Given the description of an element on the screen output the (x, y) to click on. 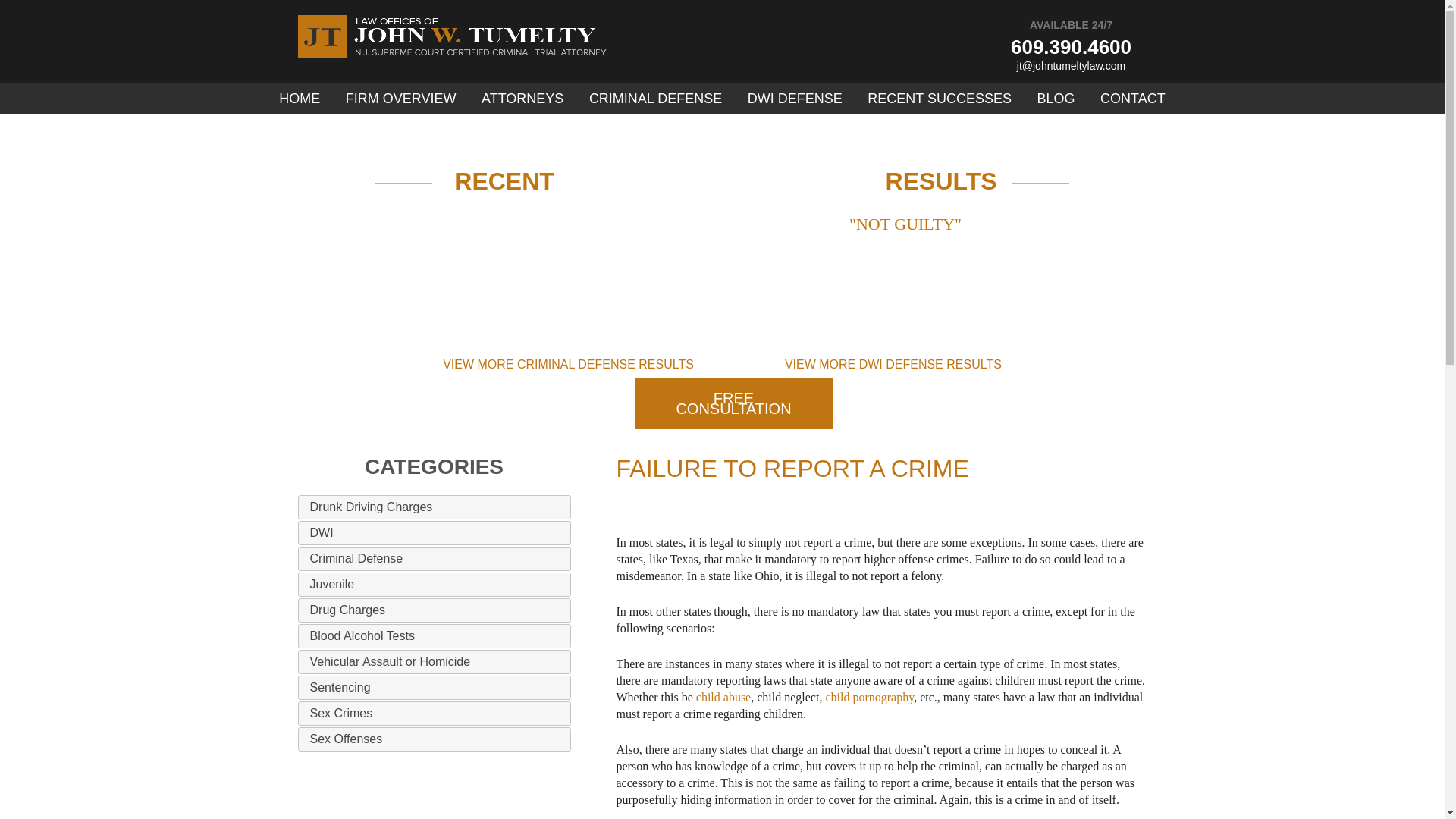
FIRM OVERVIEW (401, 98)
CRIMINAL DEFENSE (655, 98)
BLOG (1055, 98)
RECENT SUCCESSES (938, 98)
VIEW MORE CRIMINAL DEFENSE RESULTS (568, 364)
DWI DEFENSE (794, 98)
609.390.4600 (1070, 46)
FREE CONSULTATION (733, 403)
CONTACT (1132, 98)
HOME (299, 98)
